Given the description of an element on the screen output the (x, y) to click on. 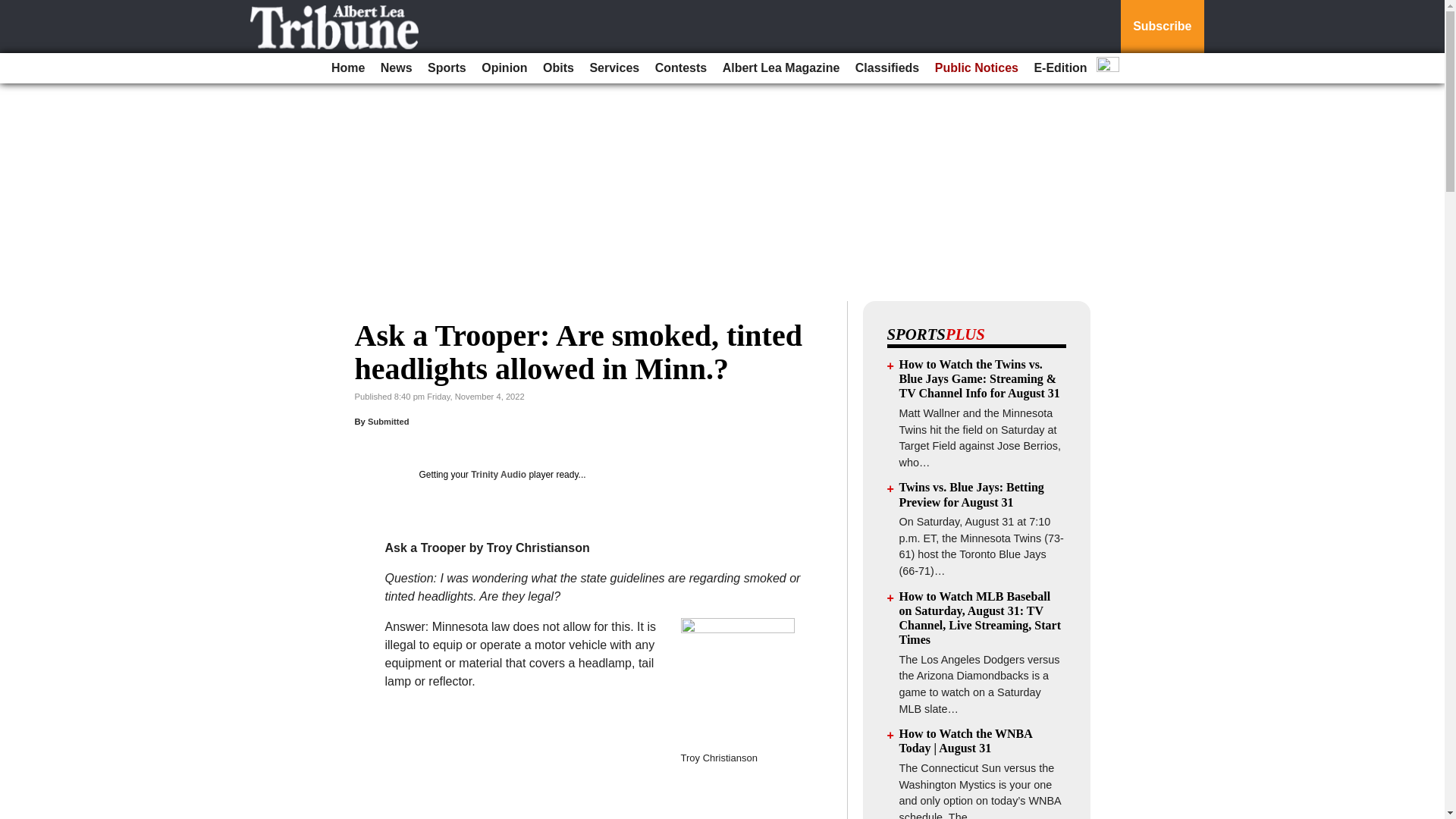
Home (347, 68)
Subscribe (1162, 26)
Opinion (504, 68)
Obits (558, 68)
Services (614, 68)
Sports (446, 68)
News (396, 68)
